Given the description of an element on the screen output the (x, y) to click on. 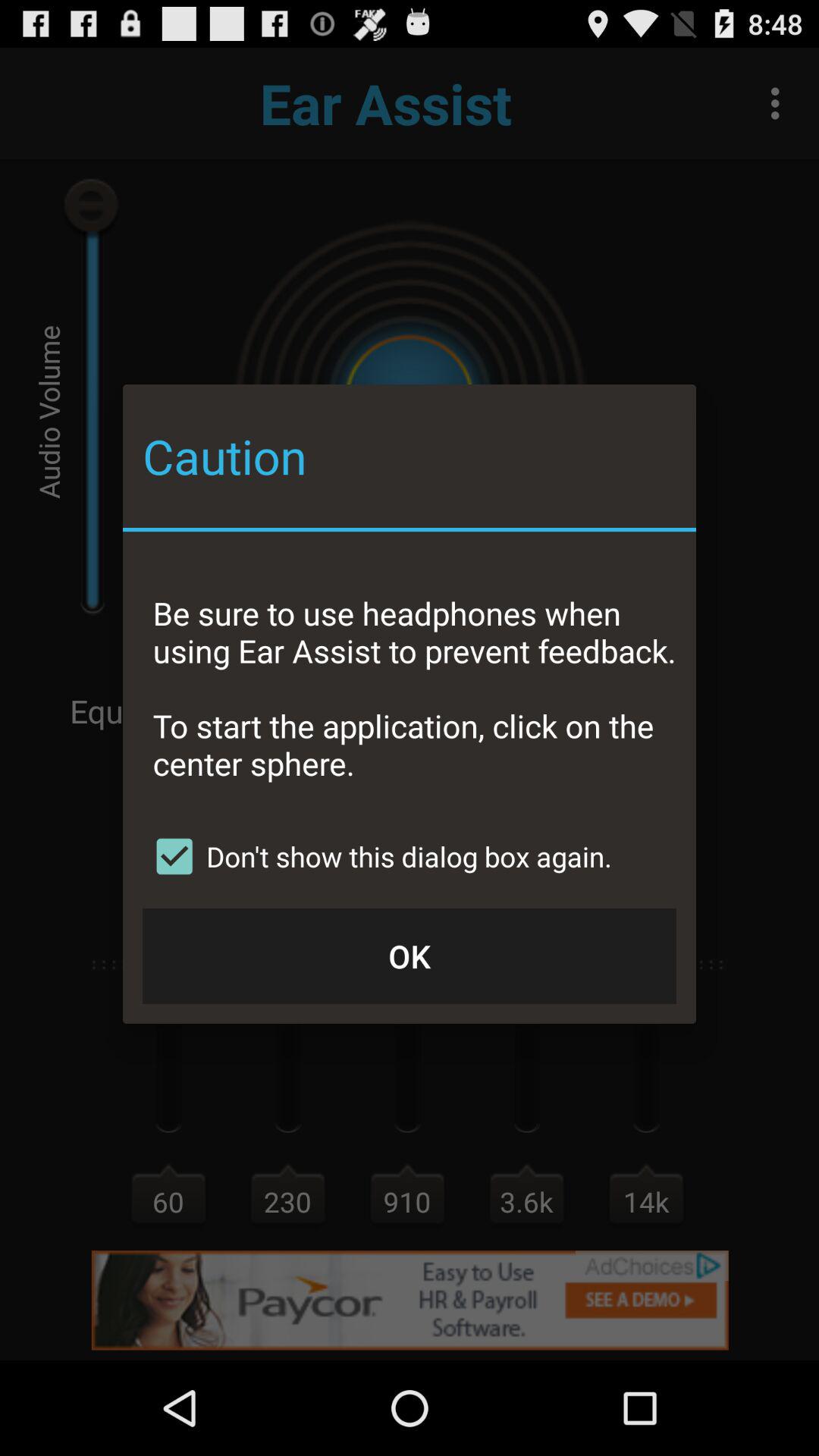
scroll until ok icon (409, 955)
